Given the description of an element on the screen output the (x, y) to click on. 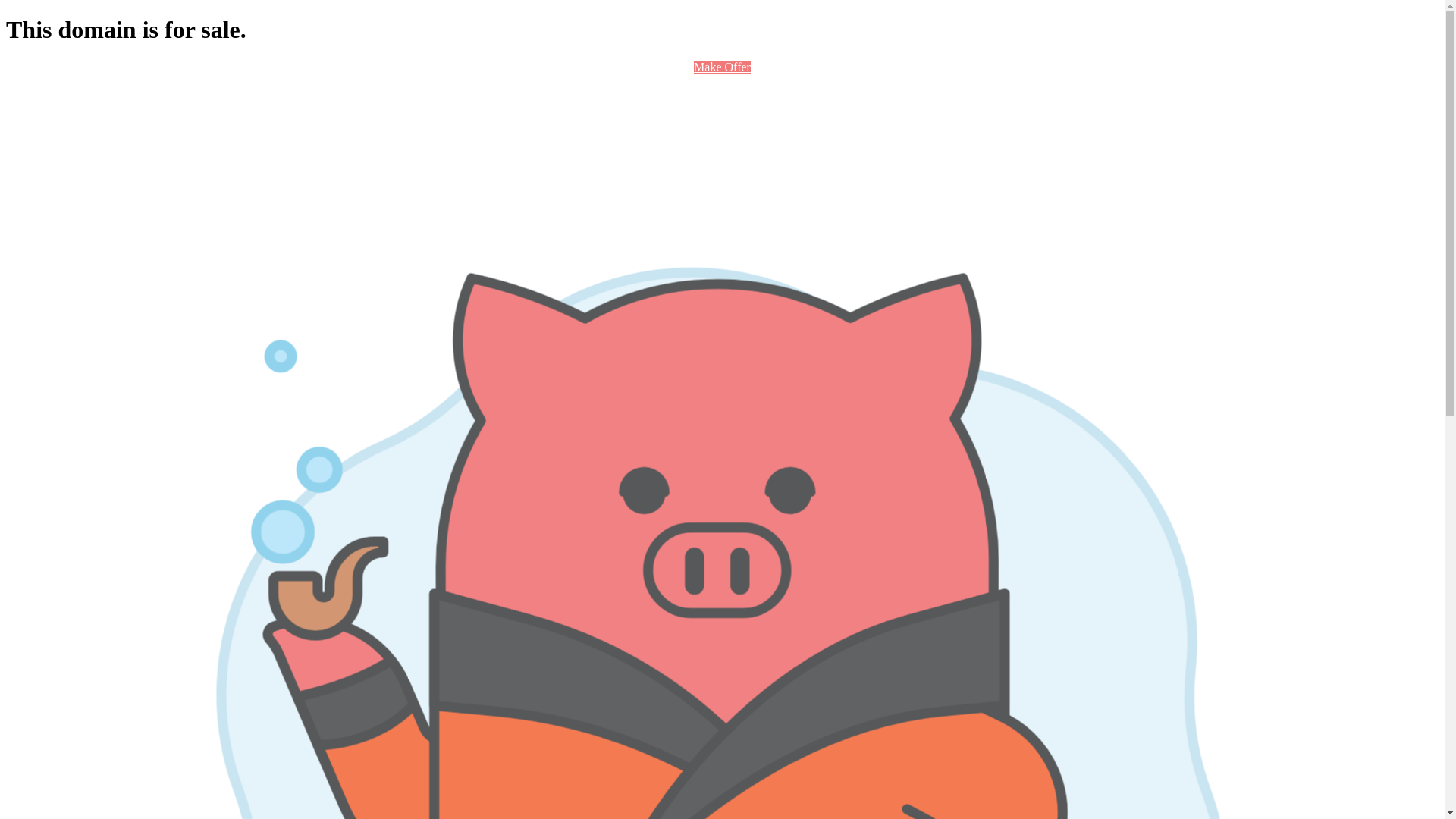
Make Offer (722, 66)
